Given the description of an element on the screen output the (x, y) to click on. 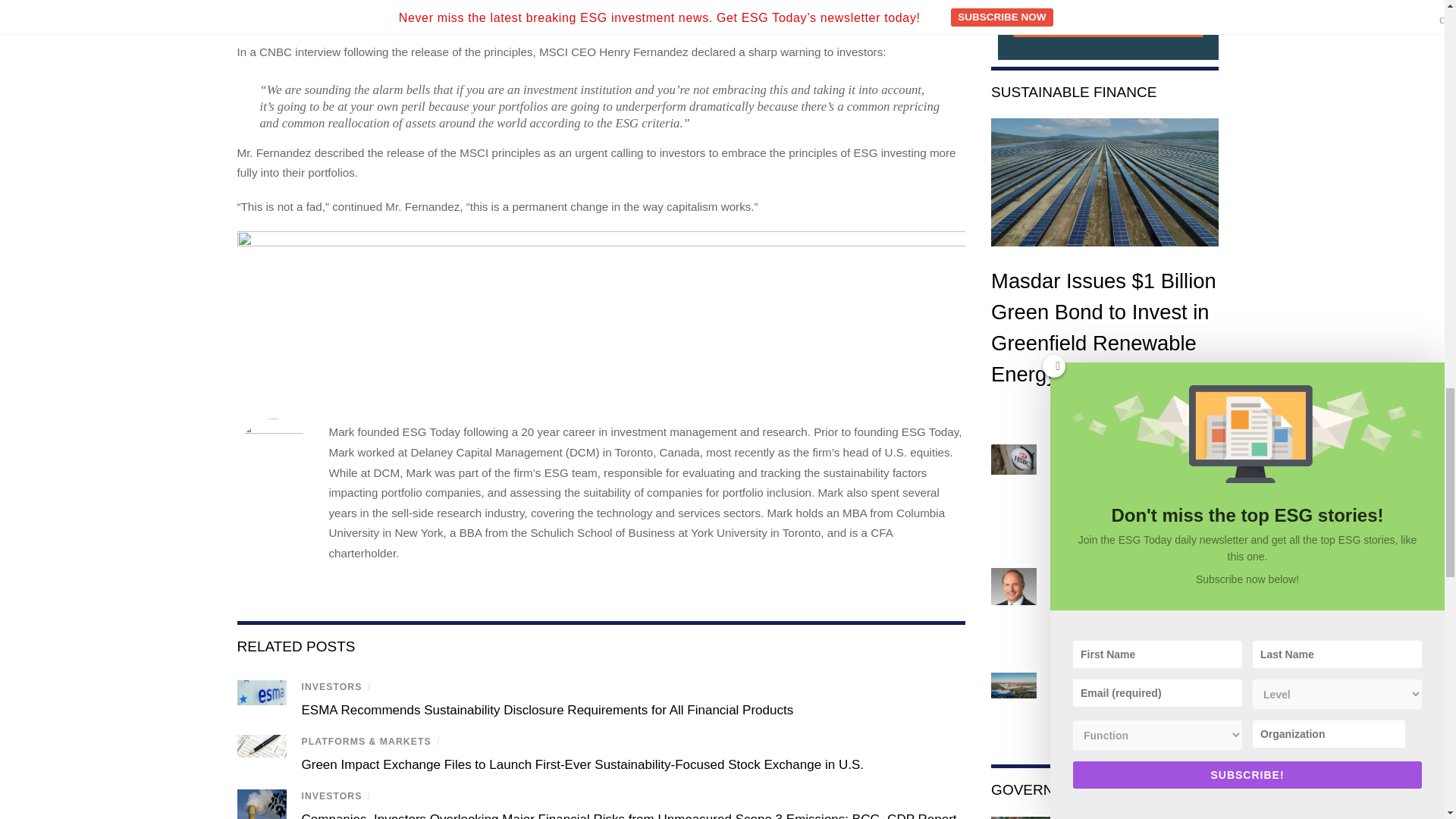
Demeter Invests in H2 Green Steel (1013, 685)
